Given the description of an element on the screen output the (x, y) to click on. 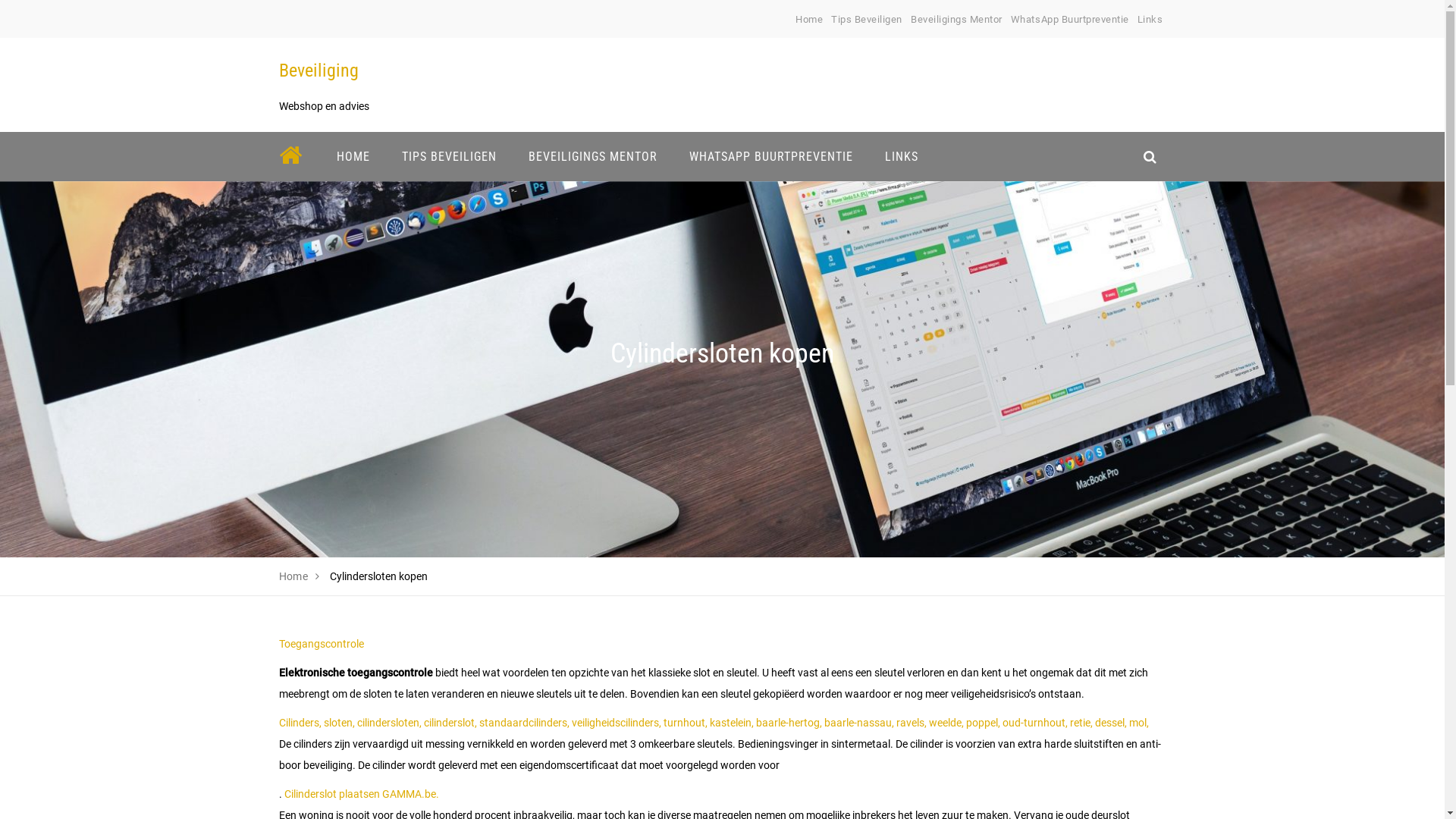
Home Element type: text (293, 576)
Beveiligings Mentor Element type: text (956, 19)
HOME Element type: text (352, 156)
LINKS Element type: text (901, 156)
Beveiliging Element type: text (318, 70)
Home Element type: text (808, 19)
Links Element type: text (1150, 19)
WhatsApp Buurtpreventie Element type: text (1069, 19)
Cilinderslot plaatsen GAMMA.be. Element type: text (360, 793)
Toegangscontrole Element type: text (321, 643)
WHATSAPP BUURTPREVENTIE Element type: text (770, 156)
search_icon Element type: hover (1148, 156)
TIPS BEVEILIGEN Element type: text (448, 156)
BEVEILIGINGS MENTOR Element type: text (592, 156)
Tips Beveiligen Element type: text (866, 19)
